Given the description of an element on the screen output the (x, y) to click on. 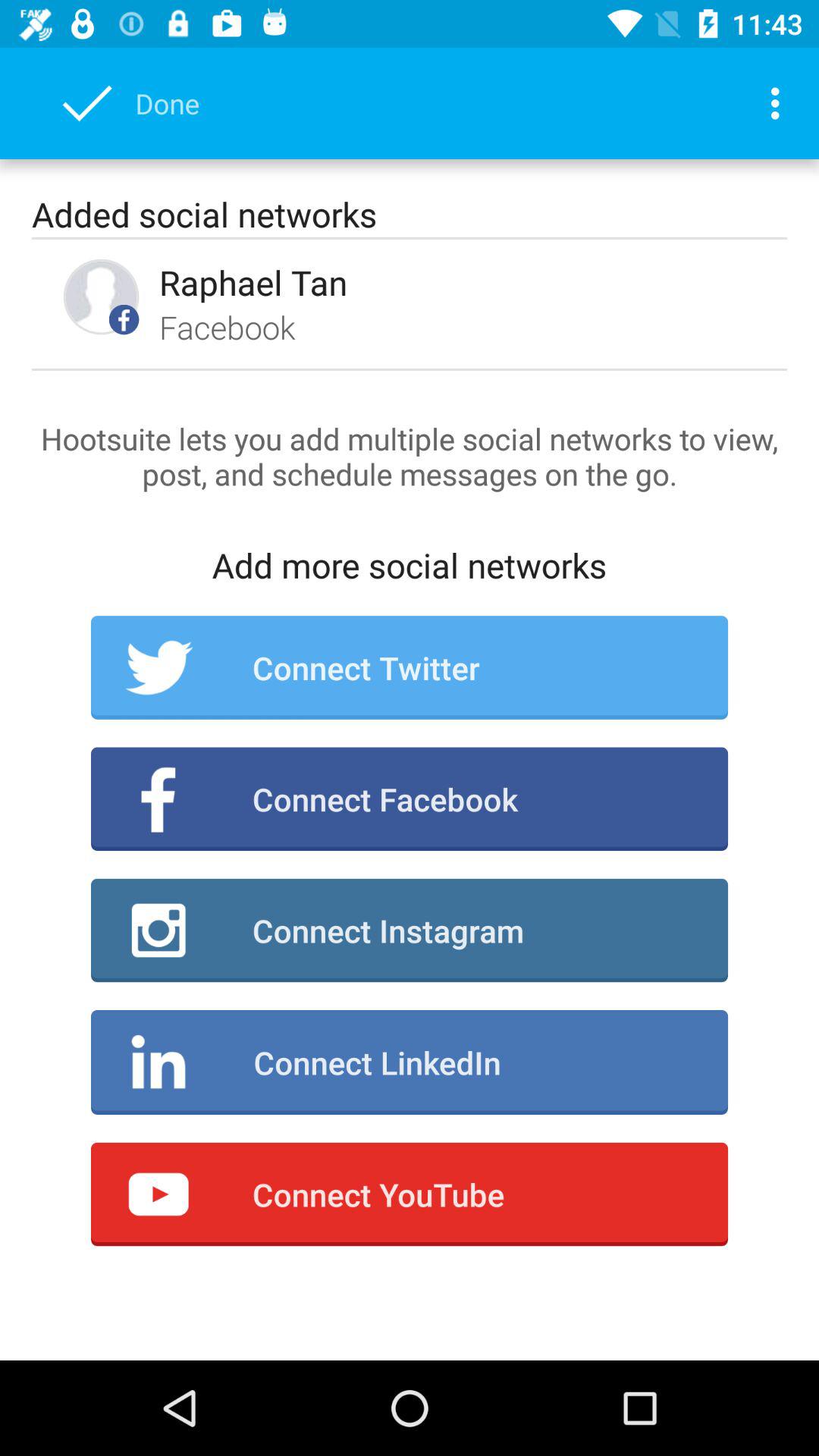
launch the icon next to done icon (779, 103)
